Given the description of an element on the screen output the (x, y) to click on. 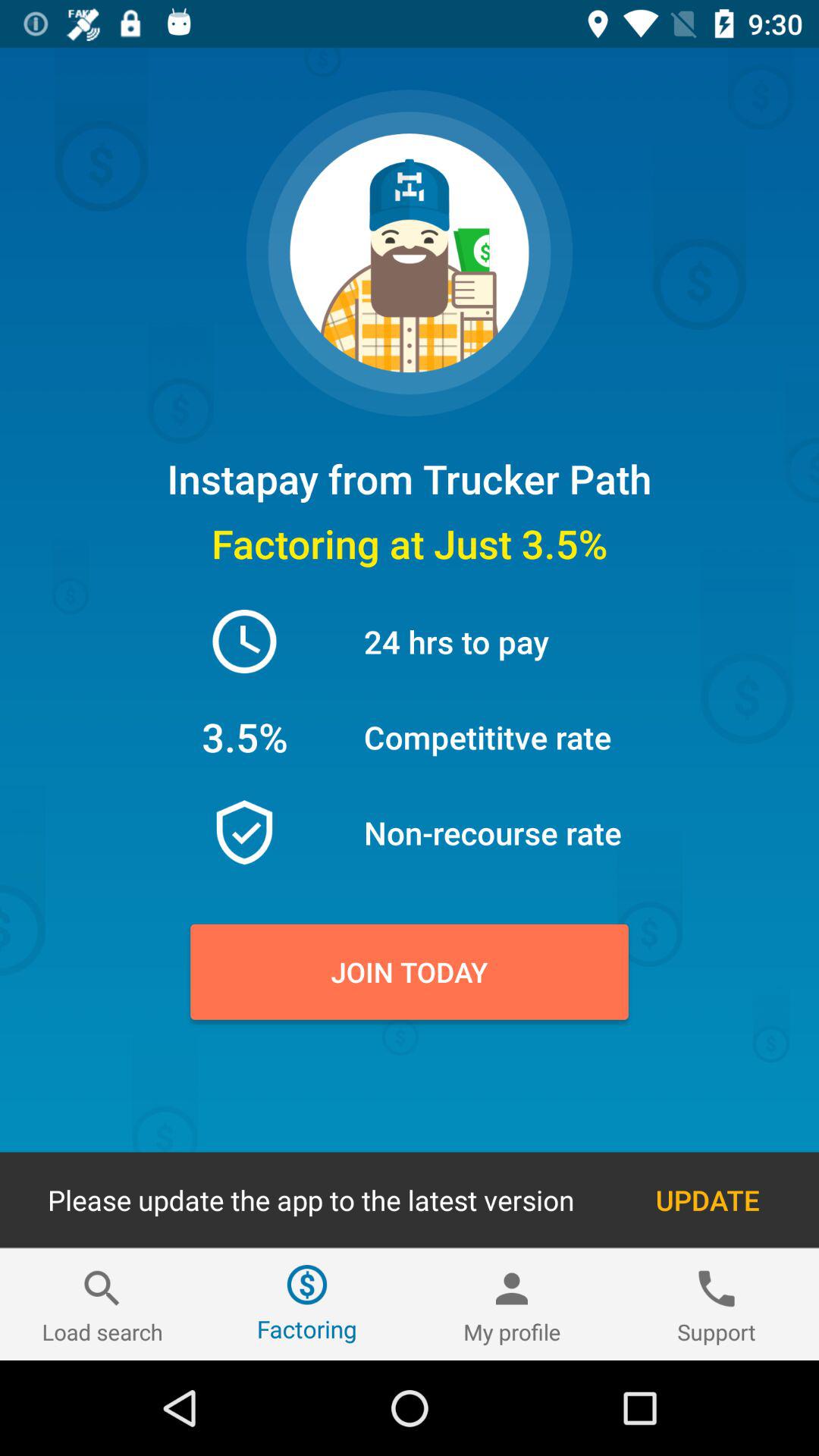
tap the item to the left of the factoring item (102, 1304)
